Given the description of an element on the screen output the (x, y) to click on. 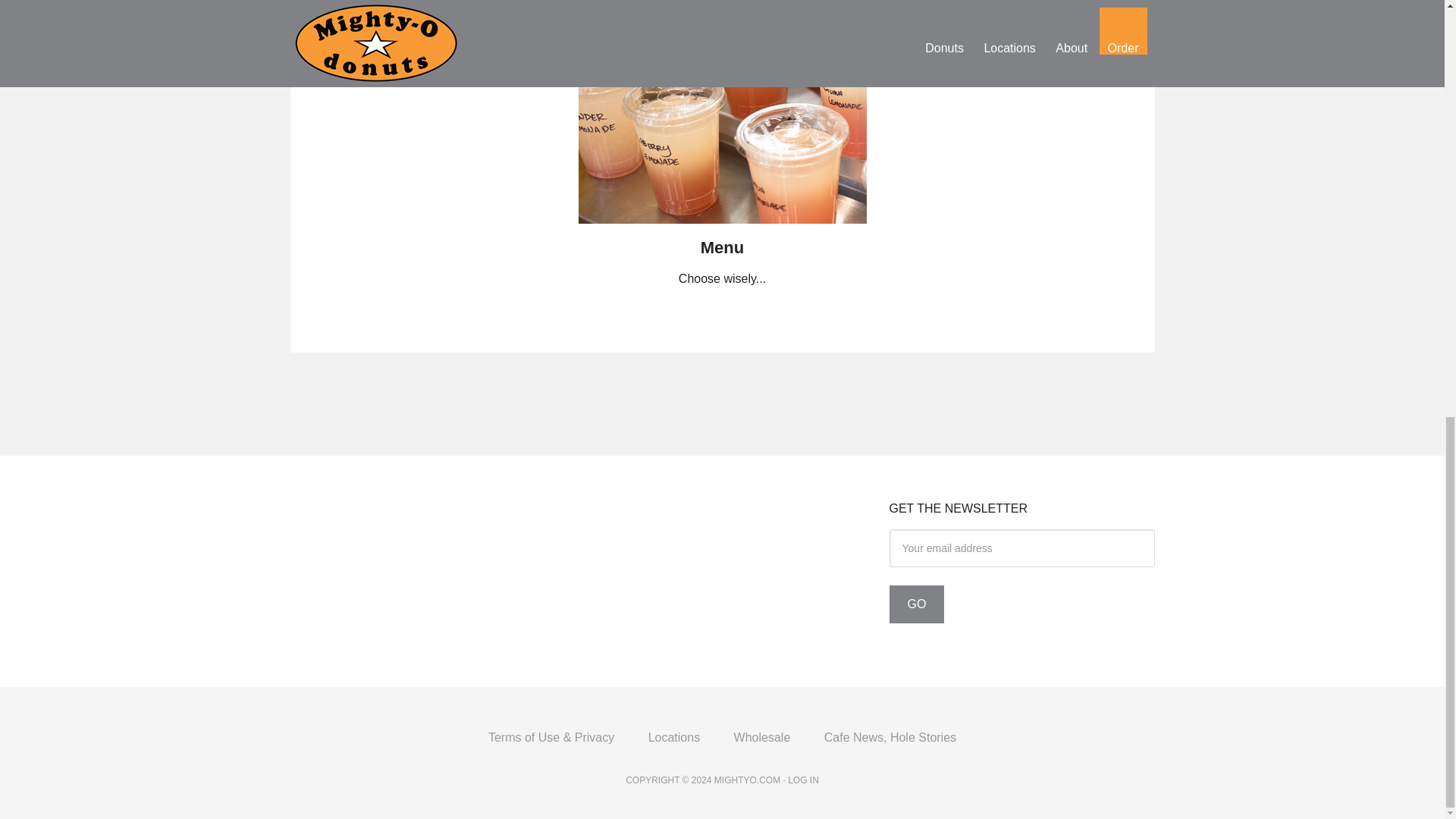
Menu (722, 247)
Locations (674, 737)
Wholesale (762, 737)
LOG IN (802, 779)
Cafe News, Hole Stories (890, 737)
go (915, 604)
Menu (722, 247)
Menu (722, 228)
go (915, 604)
Choose wisely... (721, 278)
